Given the description of an element on the screen output the (x, y) to click on. 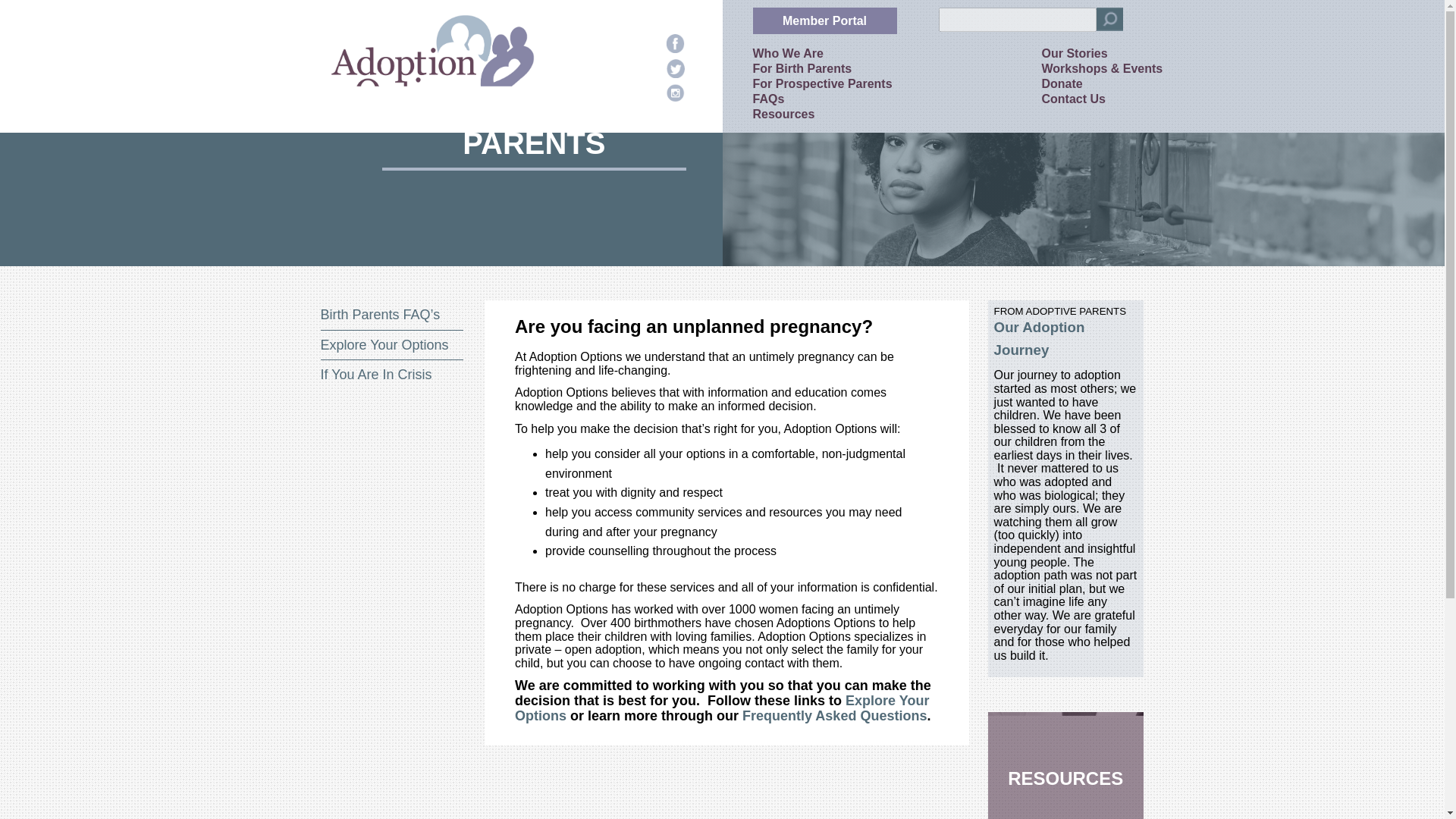
Search for: (1017, 19)
Who We Are (787, 53)
Explore Your Options (384, 344)
Resources (782, 113)
Member Portal (824, 20)
For Prospective Parents (821, 83)
RESOURCES (1065, 765)
Frequently Asked Questions (834, 715)
FAQs (768, 98)
Our Adoption Journey (1039, 338)
